Given the description of an element on the screen output the (x, y) to click on. 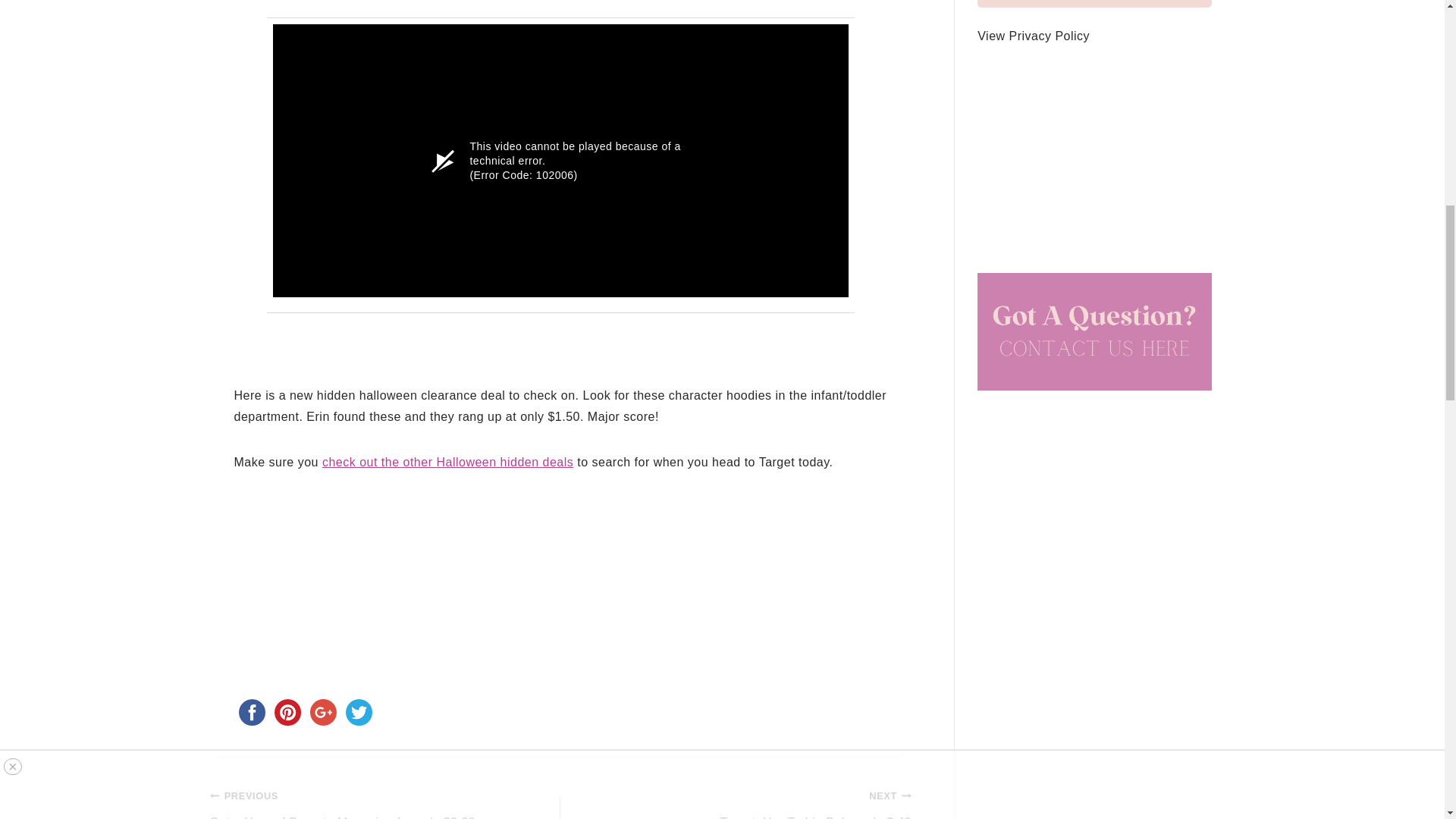
pinterest (287, 712)
twitter (358, 712)
google (322, 712)
facebook (250, 712)
check out the other Halloween hidden deals (447, 461)
